Given the description of an element on the screen output the (x, y) to click on. 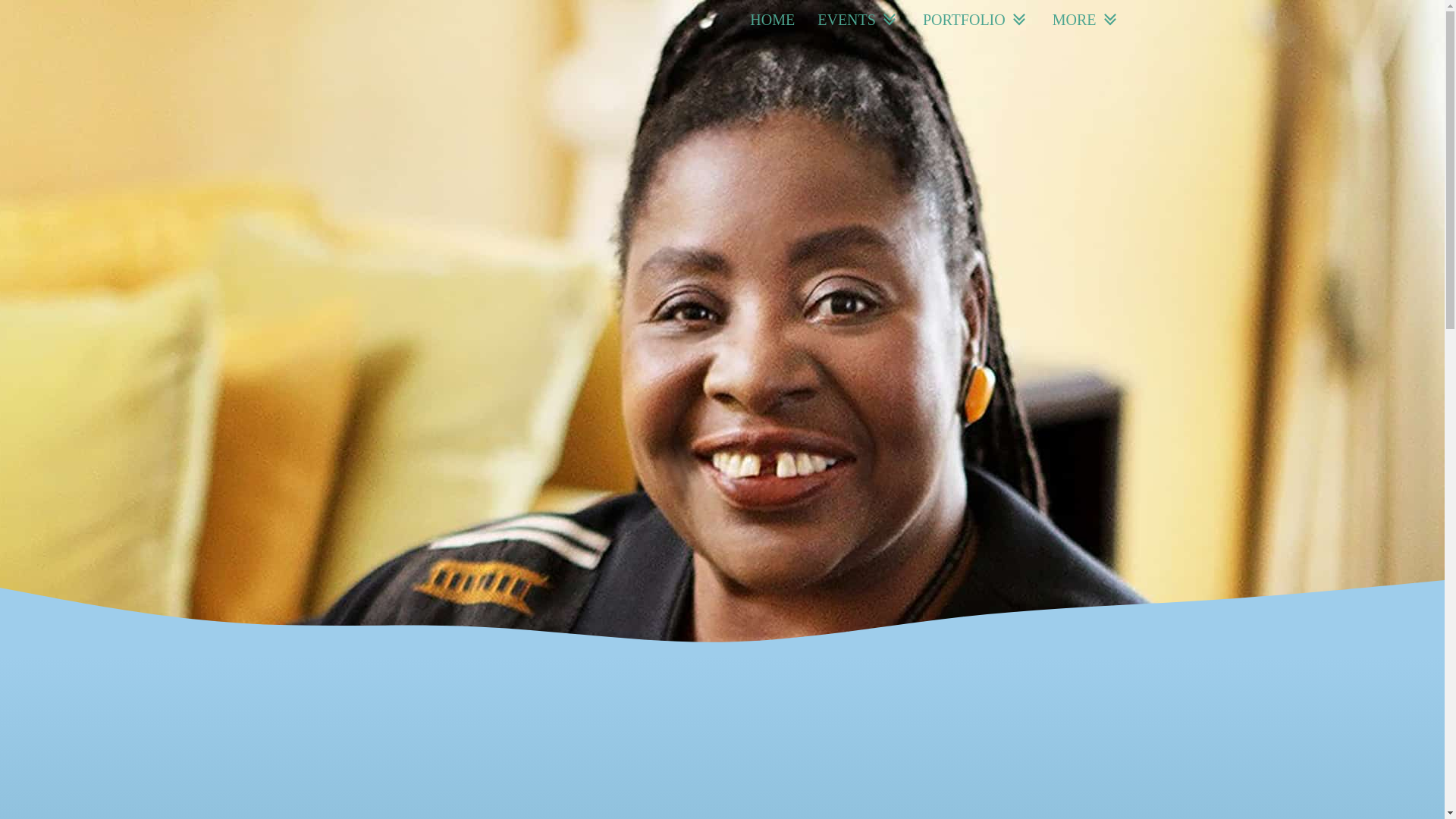
MORE (1086, 19)
PORTFOLIO (976, 19)
EVENTS (858, 19)
HOME (772, 19)
